Given the description of an element on the screen output the (x, y) to click on. 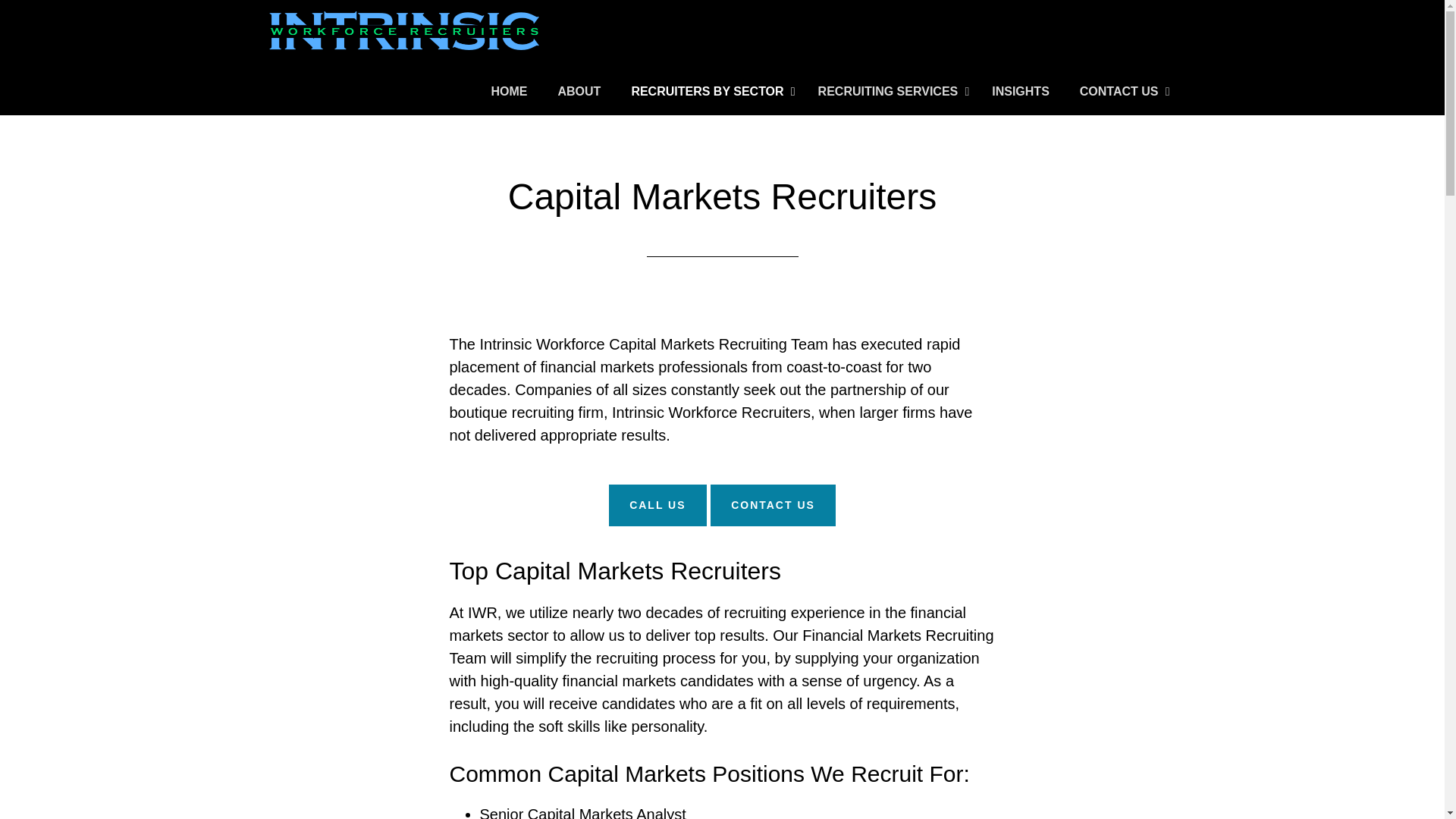
RECRUITERS BY SECTOR (708, 91)
HOME (509, 91)
ABOUT (579, 91)
